Given the description of an element on the screen output the (x, y) to click on. 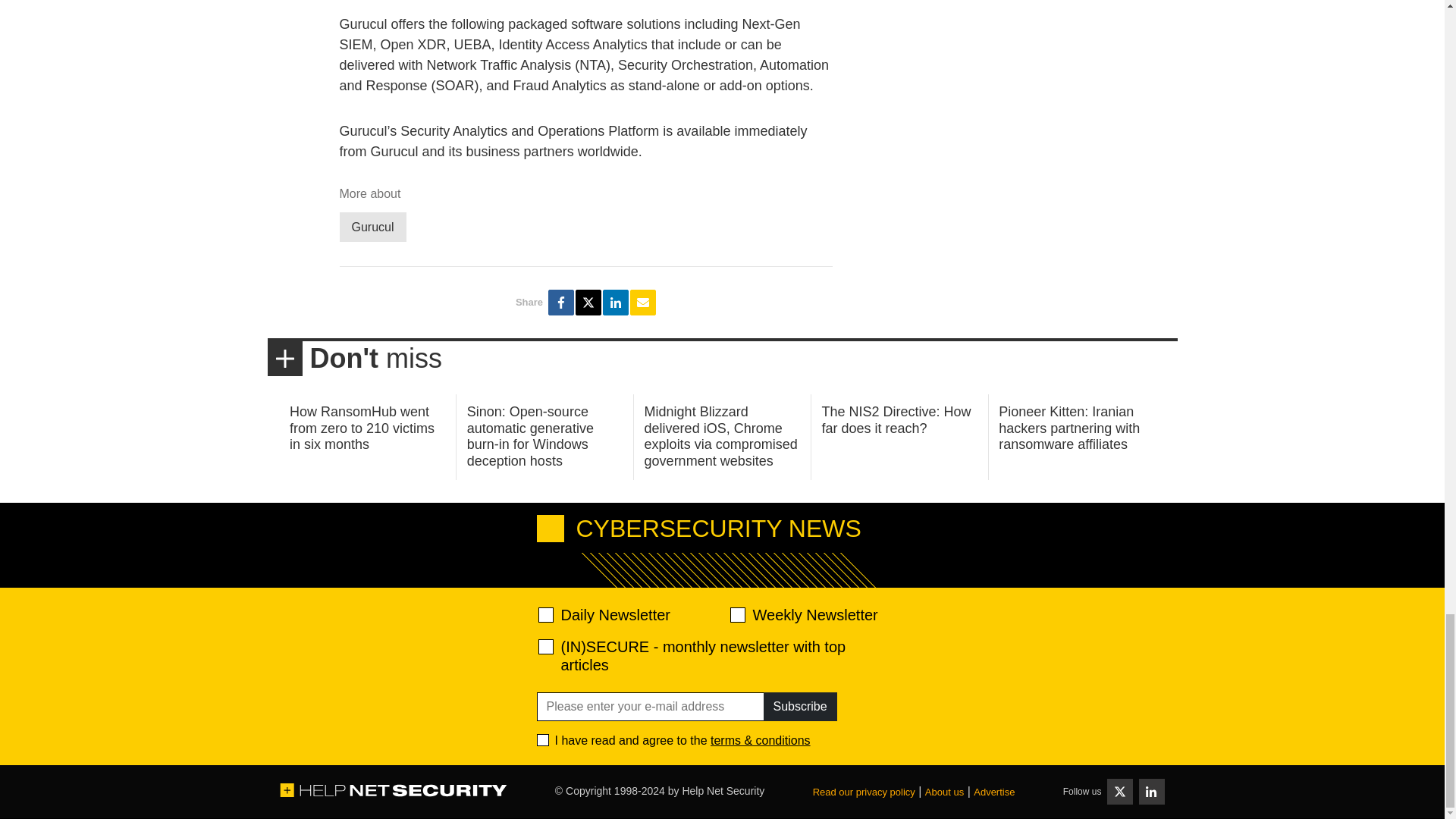
520ac2f639 (545, 614)
Gurucul (372, 226)
1 (542, 739)
How RansomHub went from zero to 210 victims in six months (361, 428)
d2d471aafa (736, 614)
Gurucul (372, 226)
The NIS2 Directive: How far does it reach? (896, 419)
